Given the description of an element on the screen output the (x, y) to click on. 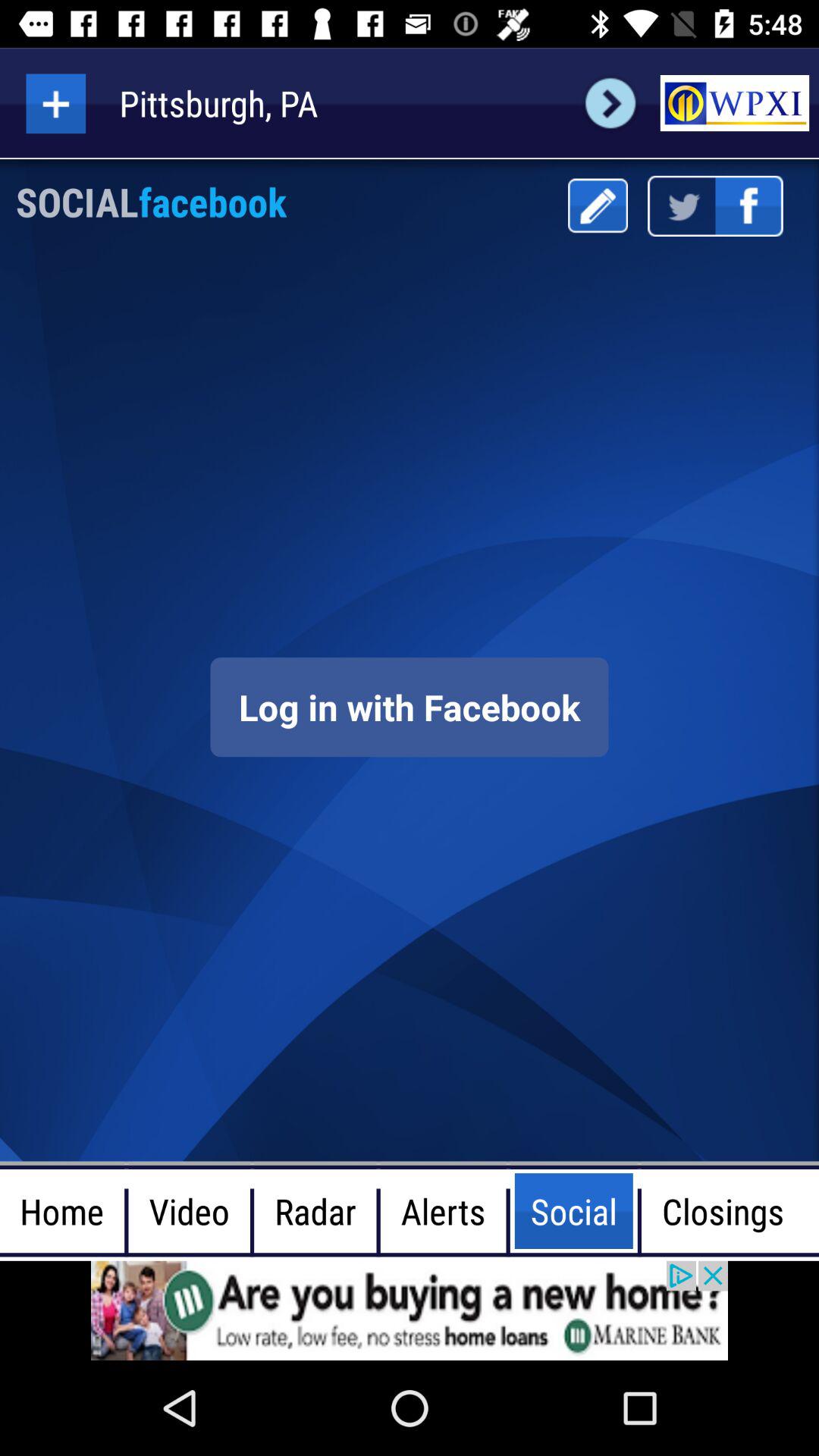
toggle edit (597, 206)
